Given the description of an element on the screen output the (x, y) to click on. 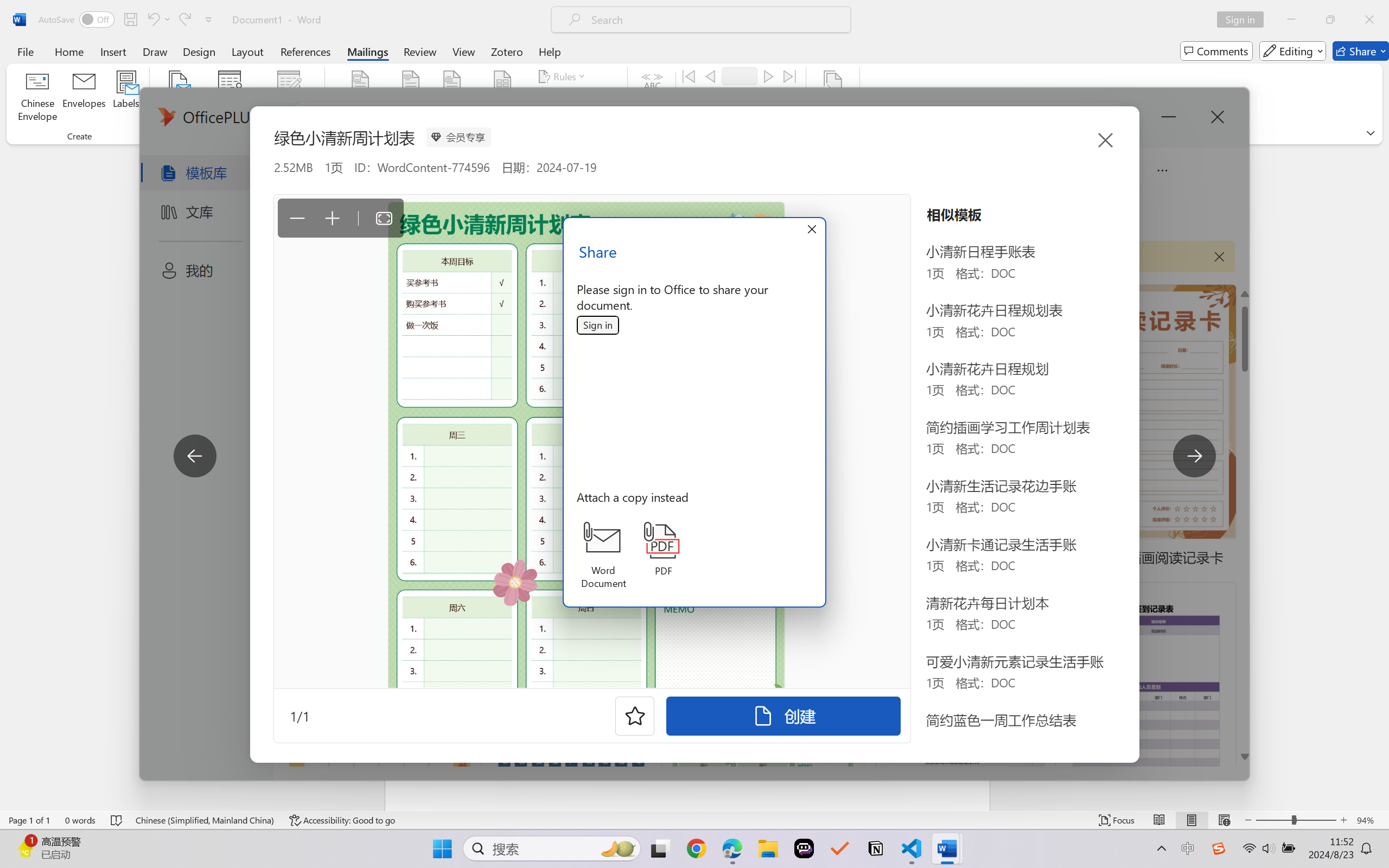
Undo Apply Quick Style Set (152, 19)
Word Document (603, 555)
